Given the description of an element on the screen output the (x, y) to click on. 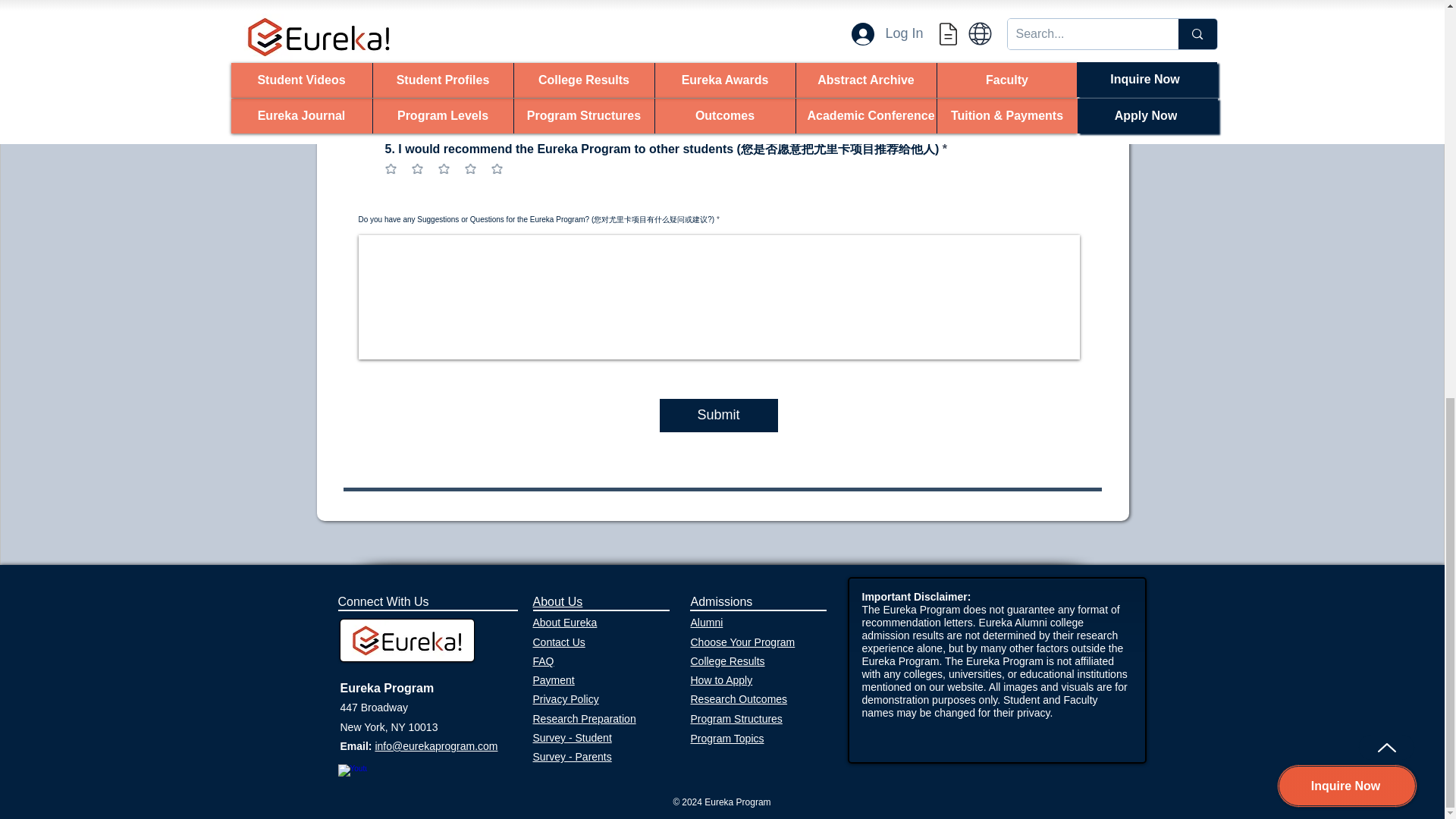
Privacy Policy (565, 698)
Eureka Program Home Page (406, 640)
Submit (718, 415)
About Us (557, 601)
Eureka Program (386, 687)
Survey - Parents (571, 756)
Survey - Student (571, 737)
Research Preparation (583, 718)
College Results (727, 661)
FAQ (542, 661)
Choose Your Program (742, 642)
About Eureka (564, 622)
Inquire Now (1346, 17)
How to Apply (721, 680)
Contact Us (558, 642)
